Given the description of an element on the screen output the (x, y) to click on. 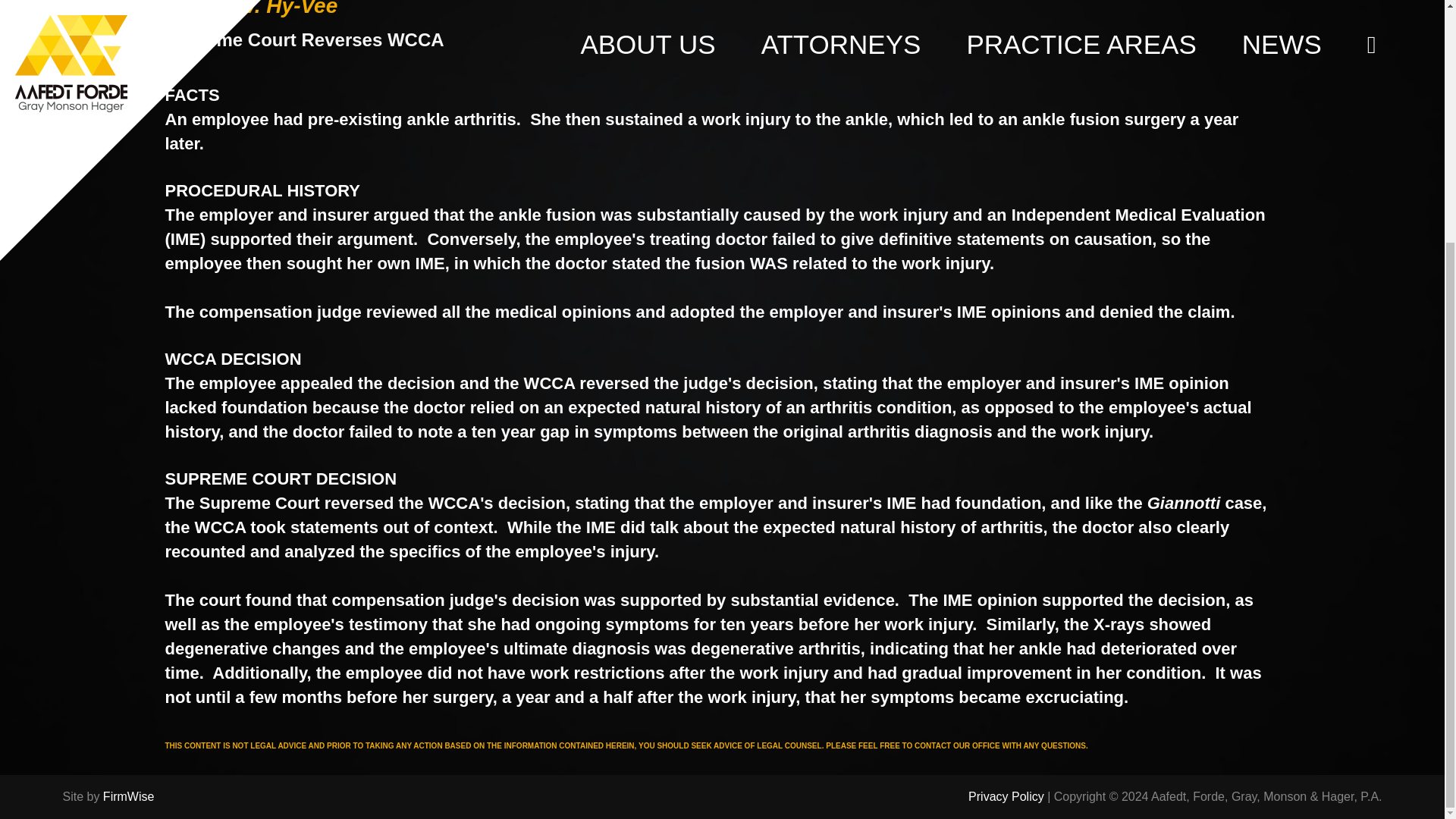
Mattick v. Hy-Vee (251, 8)
FirmWise (128, 460)
Privacy Policy (1005, 460)
